Given the description of an element on the screen output the (x, y) to click on. 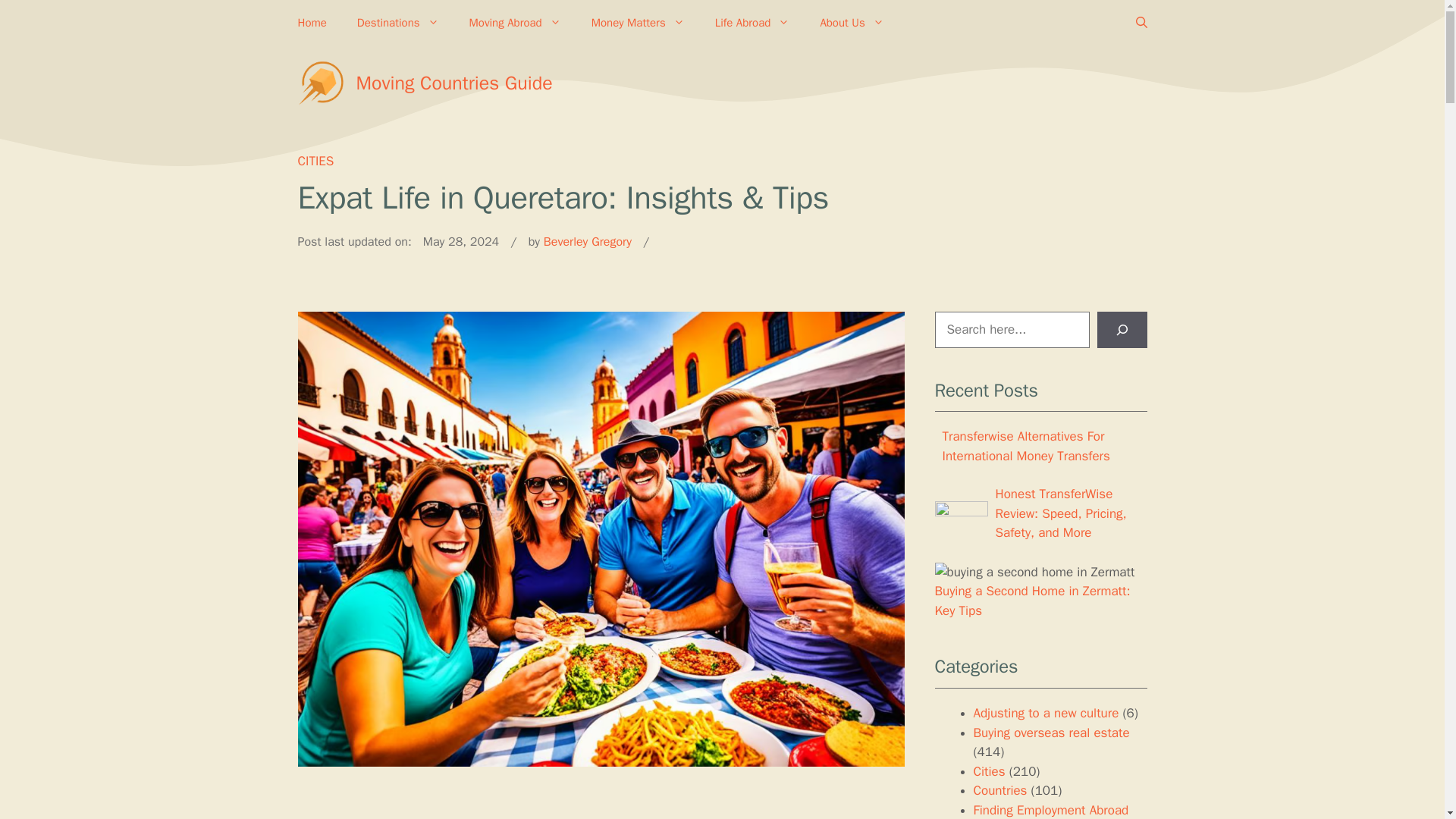
Life Abroad (752, 22)
Destinations (398, 22)
Moving Abroad (515, 22)
CITIES (315, 160)
About Us (851, 22)
Home (311, 22)
Beverley Gregory (587, 241)
Money Matters (638, 22)
Moving Countries Guide (454, 83)
